Given the description of an element on the screen output the (x, y) to click on. 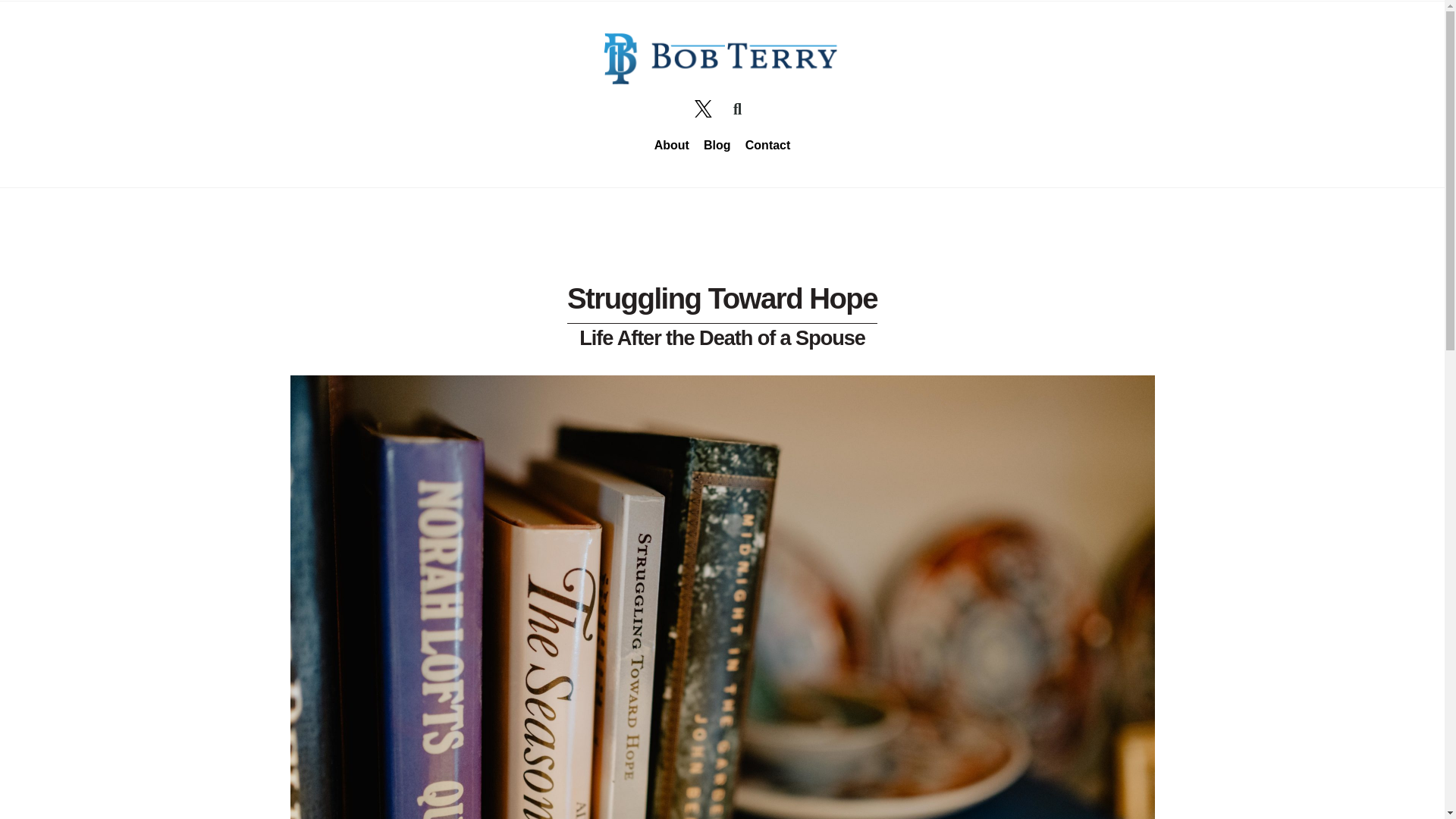
Life After the Death of a Spouse (721, 337)
Contact (767, 144)
Blog (716, 144)
Struggling Toward Hope (722, 297)
About (670, 144)
